Given the description of an element on the screen output the (x, y) to click on. 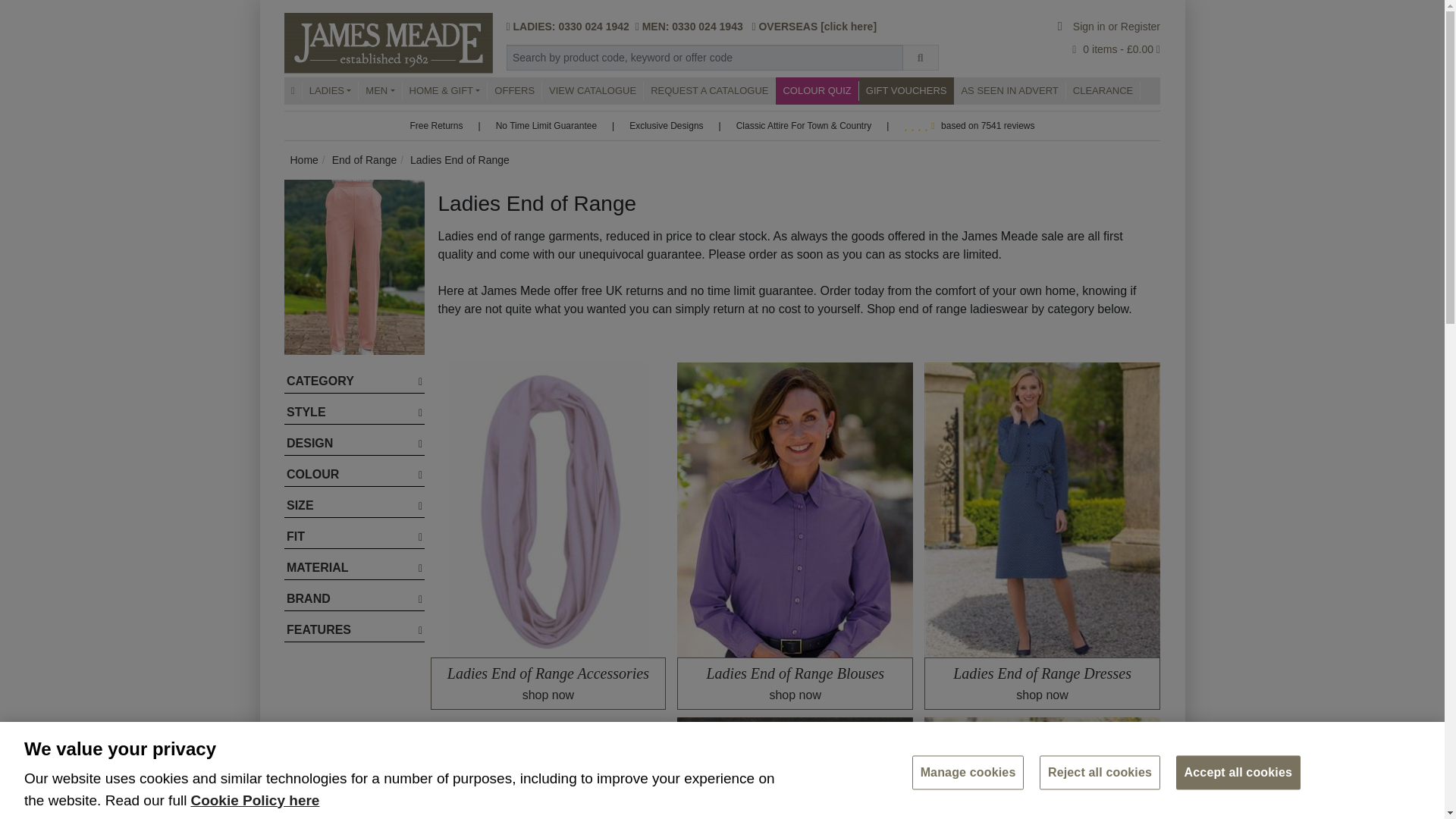
overseas telephone numbers (848, 26)
Call Us on 0330 024 1942 (570, 26)
MEN (379, 90)
Sign in or Register (1109, 26)
Click here to visit our homepage (292, 90)
Click here to see our Ladies range (330, 90)
Call Us on 0330 024 1943 (691, 26)
MEN: 0330 024 1943   (691, 26)
LADIES (330, 90)
Click here to view your basket (1112, 49)
LADIES: 0330 024 1942   (570, 26)
